Given the description of an element on the screen output the (x, y) to click on. 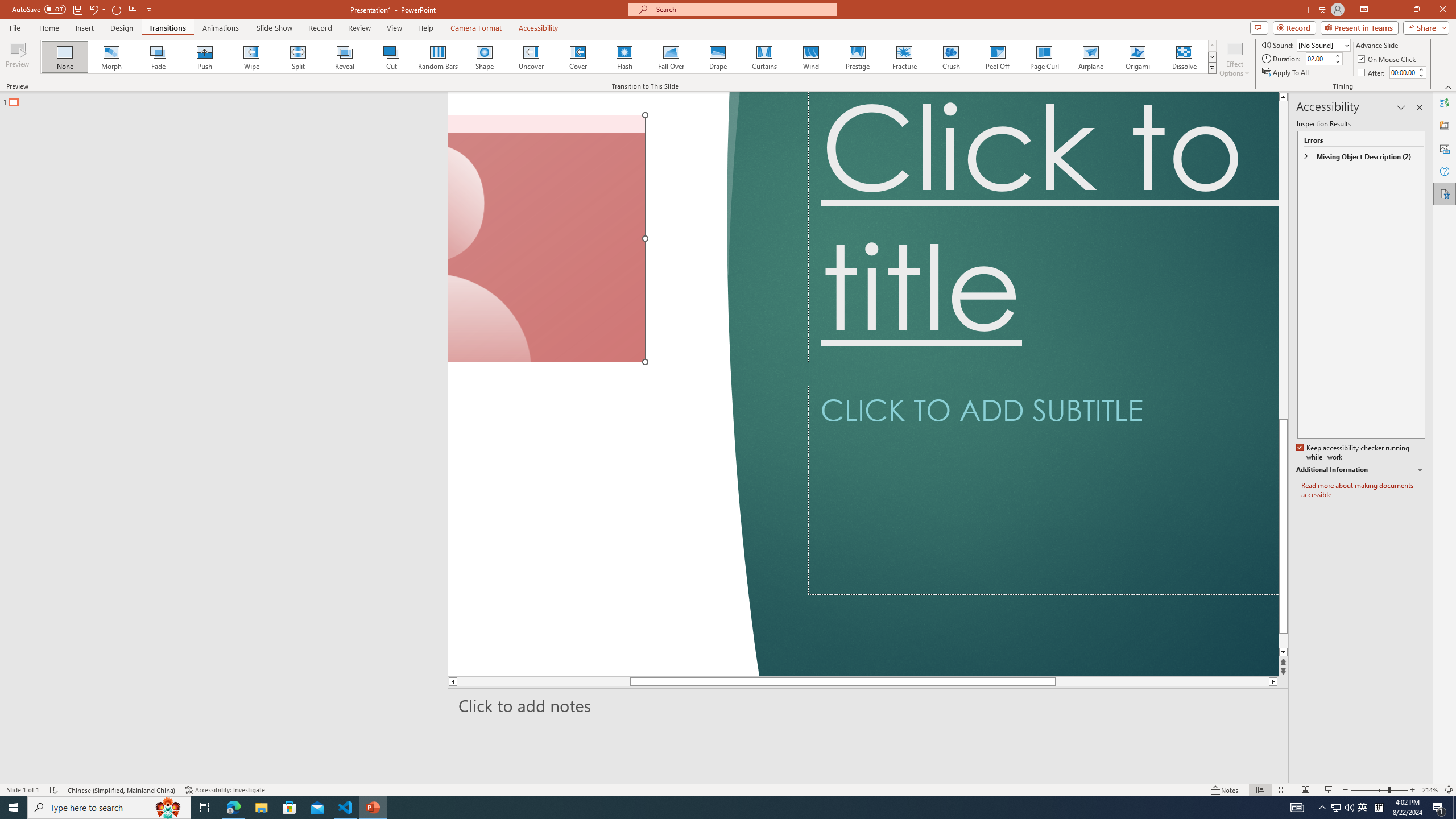
Cover (577, 56)
Sound (1324, 44)
Zoom 214% (1430, 790)
Random Bars (437, 56)
Subtitle TextBox (1043, 489)
